Given the description of an element on the screen output the (x, y) to click on. 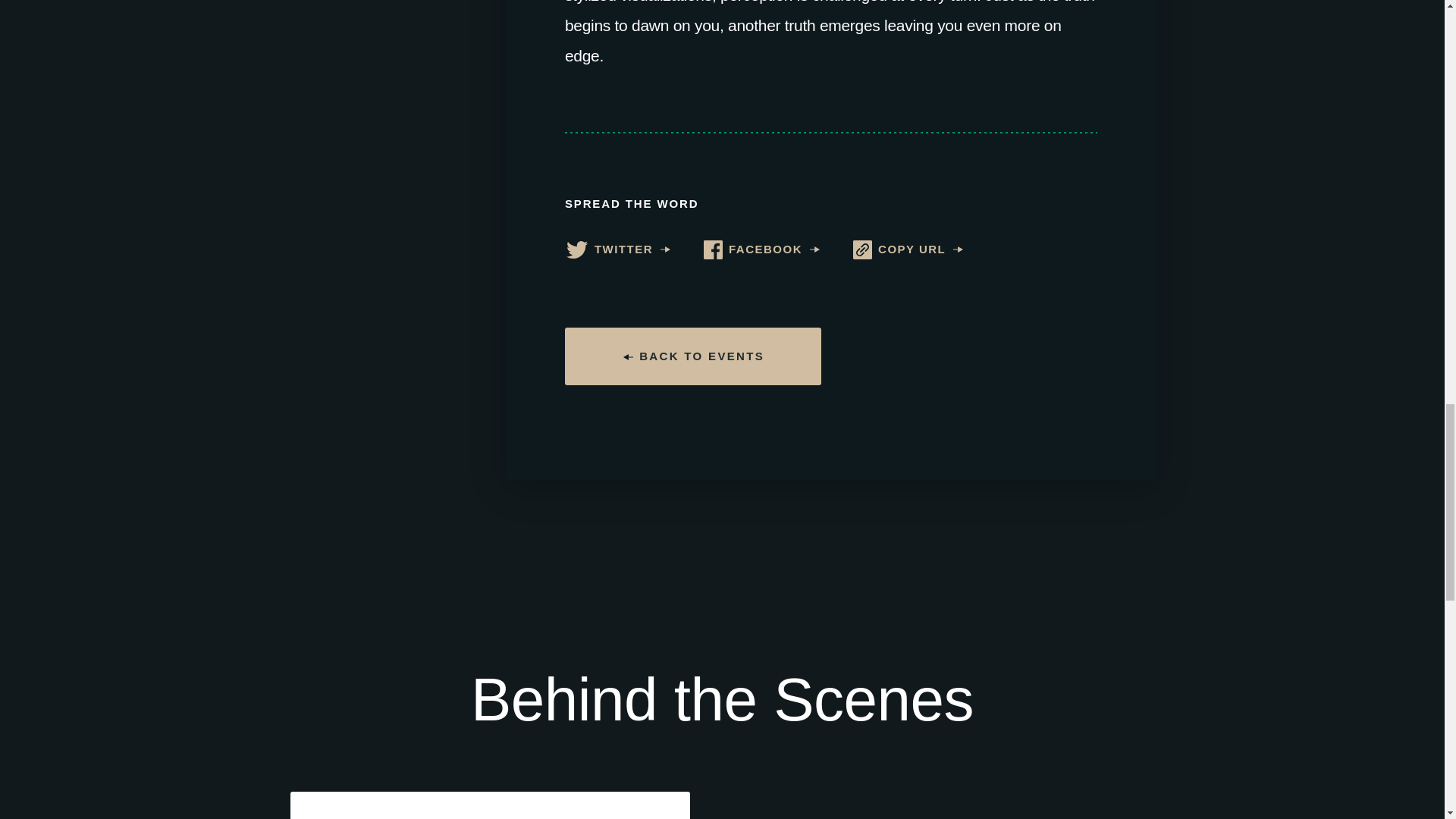
COPY URL (907, 250)
BACK TO EVENTS (692, 355)
Share on Facebook (761, 250)
FACEBOOK (761, 250)
TWITTER (617, 250)
Share on Twitter (617, 250)
